Given the description of an element on the screen output the (x, y) to click on. 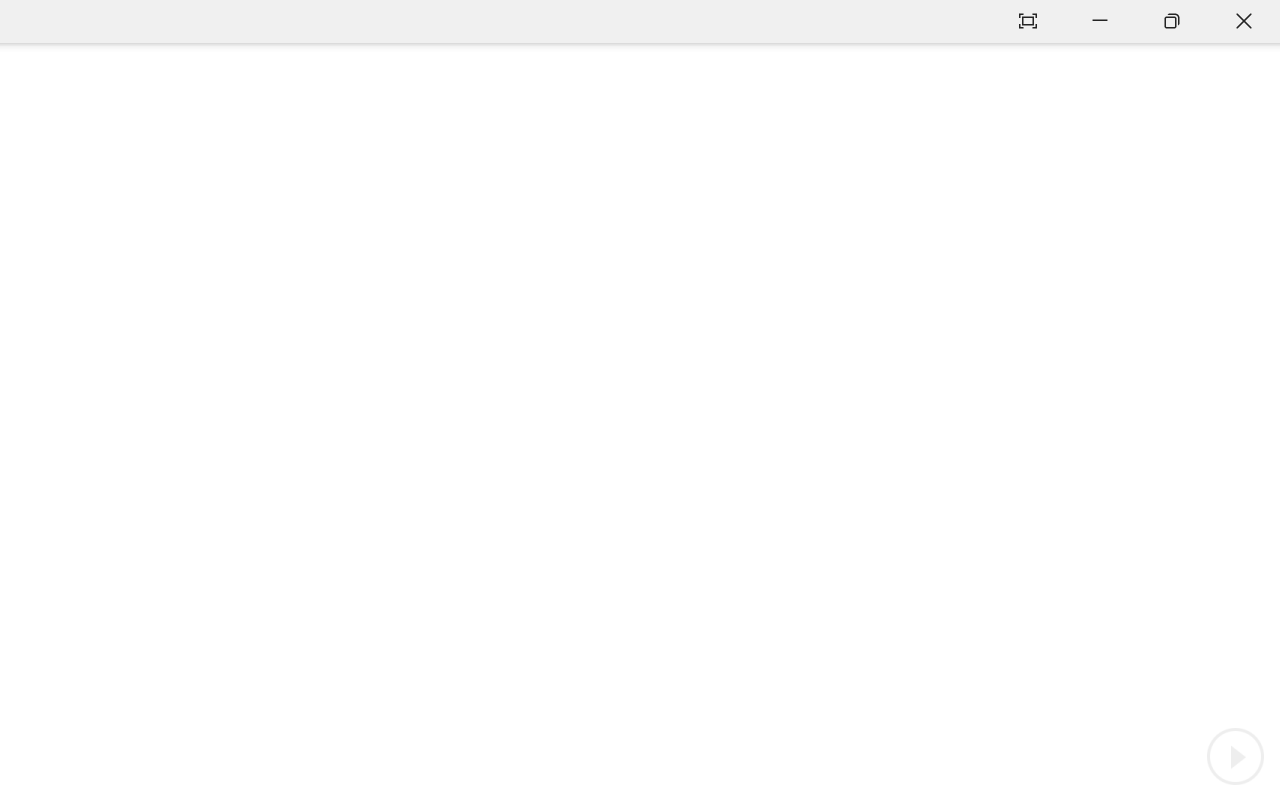
Czech (detected) (1039, 250)
Romanian (1001, 455)
Line up (880, 188)
Find... (51, 87)
Dictate (149, 94)
Accessibility (1260, 290)
Dictate (149, 114)
Swap "from" and "to" languages. (1065, 426)
